Given the description of an element on the screen output the (x, y) to click on. 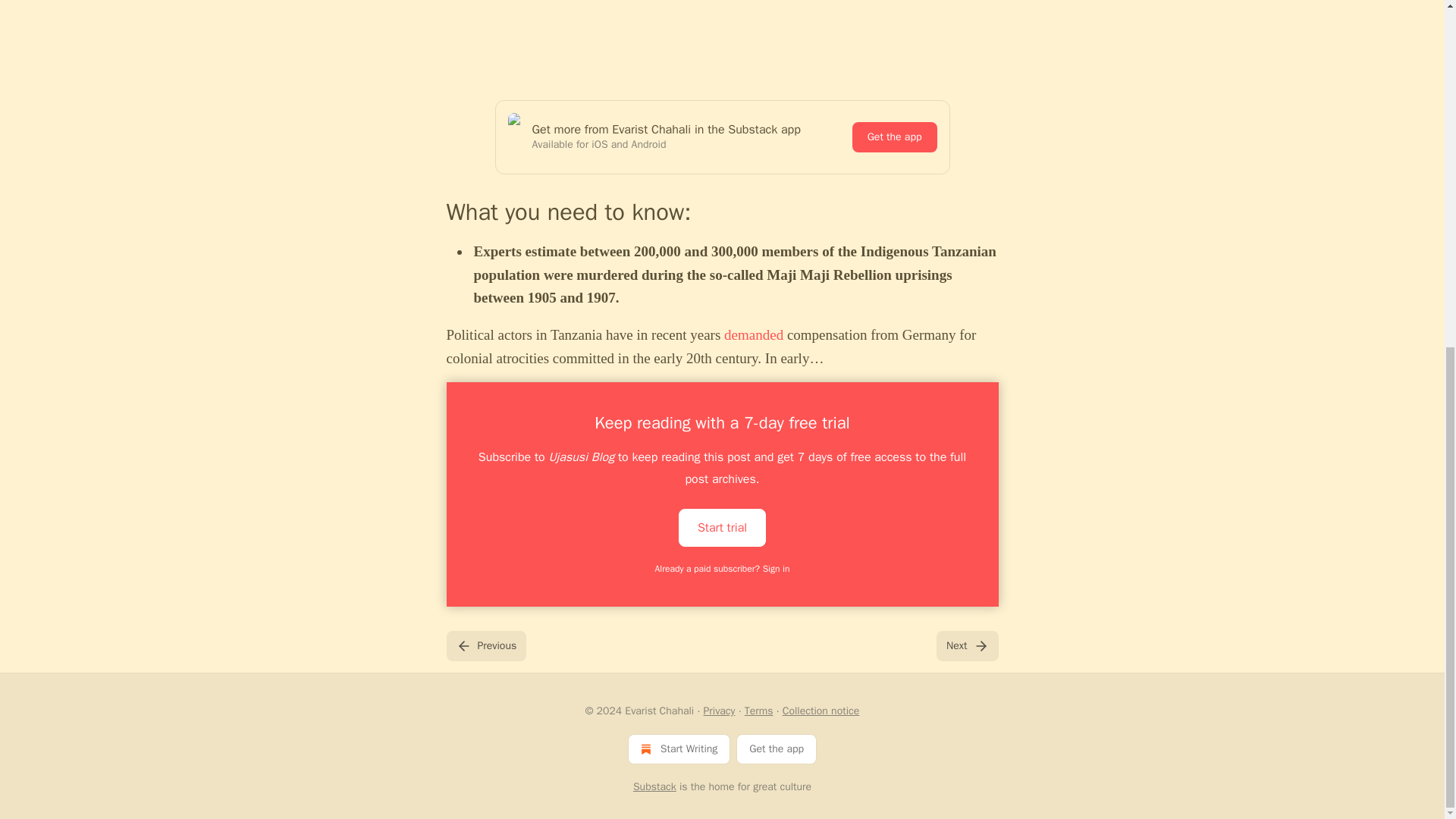
Get the app (894, 137)
Start Writing (678, 748)
Already a paid subscriber? Sign in (722, 568)
Substack (655, 786)
Start trial (721, 527)
Next (966, 645)
Privacy (719, 710)
Collection notice (821, 710)
demanded (753, 334)
Start trial (721, 526)
